Given the description of an element on the screen output the (x, y) to click on. 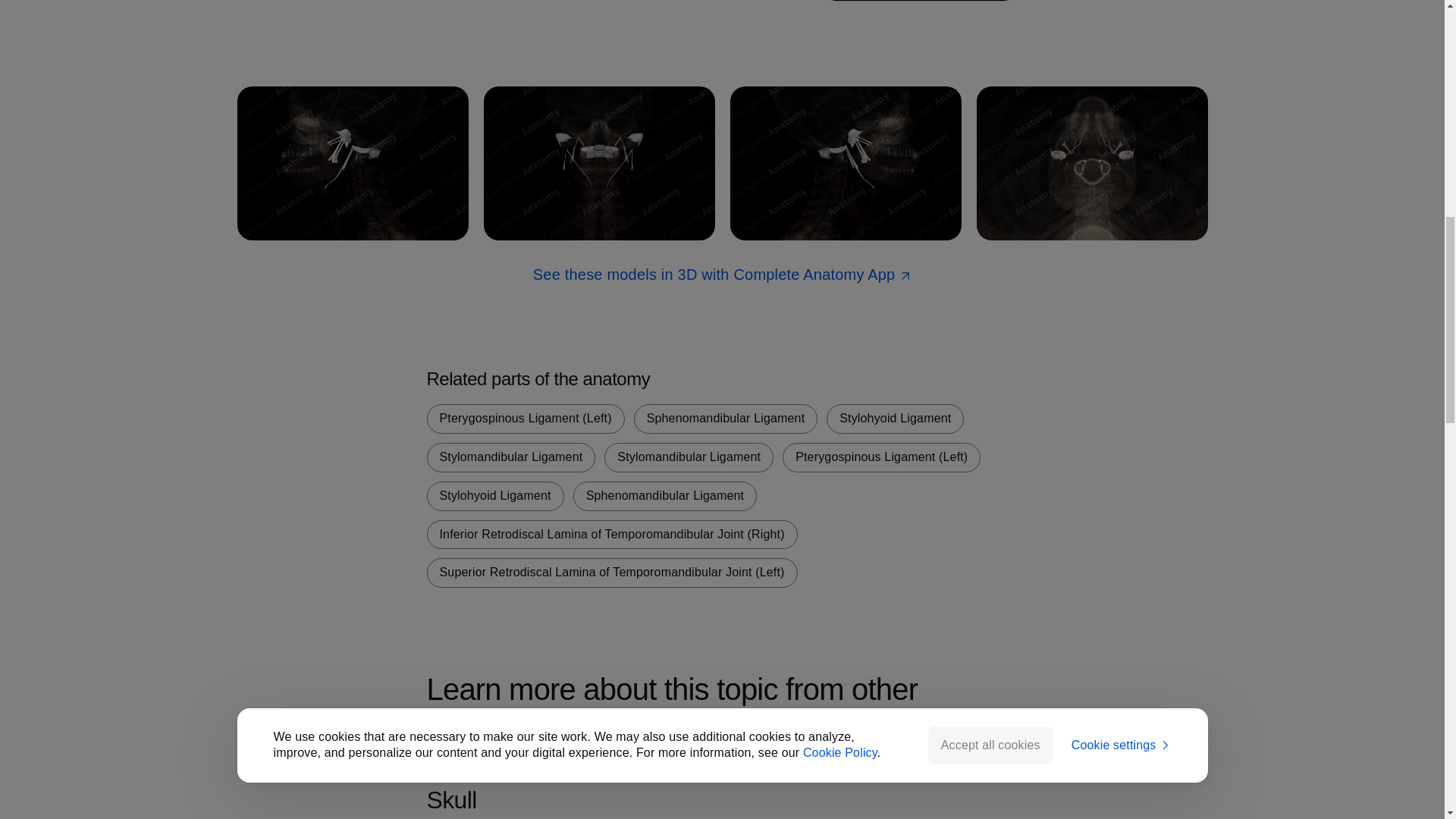
Sphenomandibular Ligament (725, 419)
Stylomandibular Ligament (688, 457)
Stylomandibular Ligament (510, 457)
Stylohyoid Ligament (895, 419)
